Given the description of an element on the screen output the (x, y) to click on. 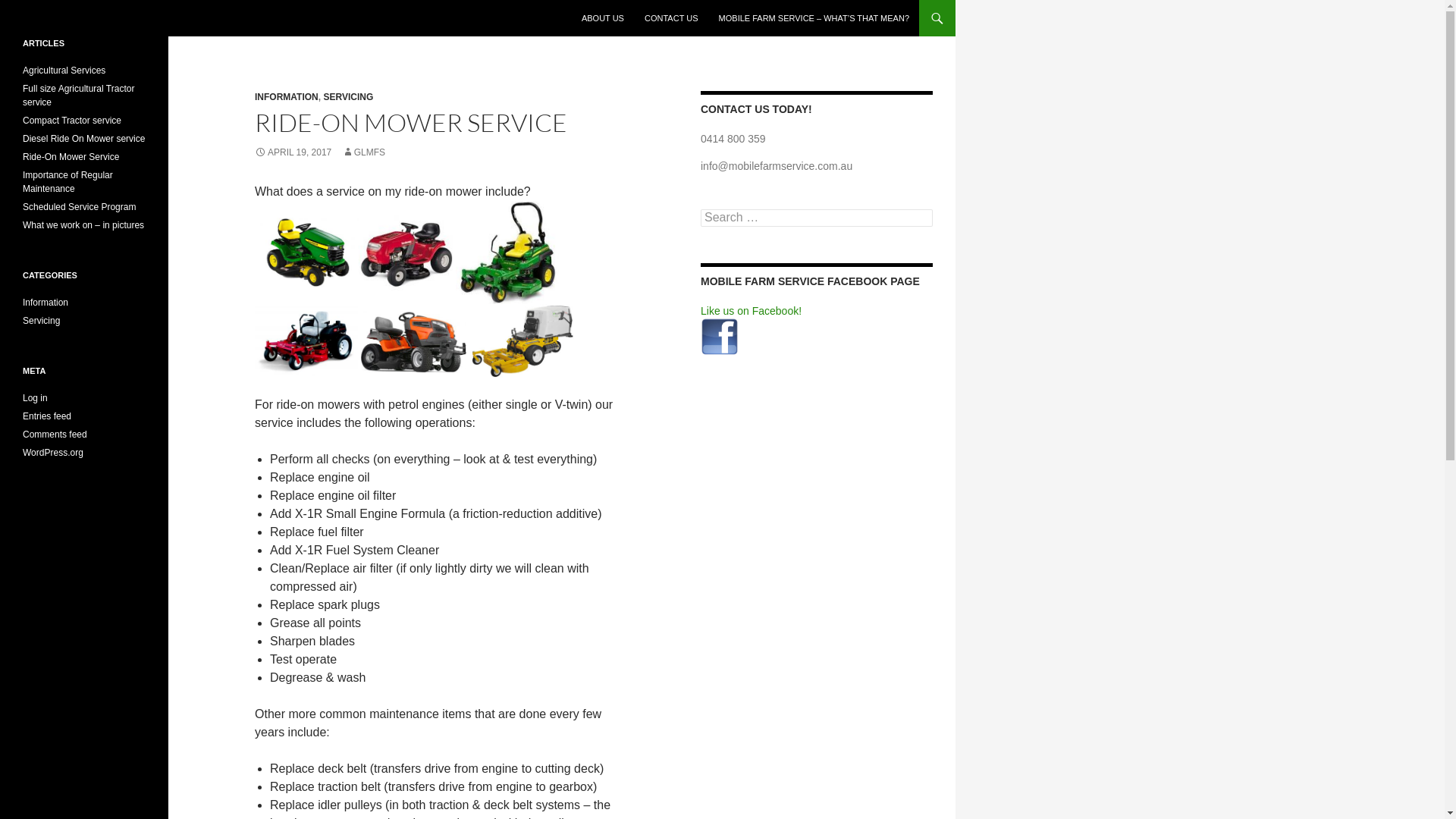
GLMFS Element type: text (363, 152)
Information Element type: text (45, 302)
Diesel Ride On Mower service Element type: text (83, 138)
WordPress.org Element type: text (52, 452)
Compact Tractor service Element type: text (71, 120)
Full size Agricultural Tractor service Element type: text (78, 95)
Servicing Element type: text (40, 320)
Importance of Regular Maintenance Element type: text (67, 181)
Scheduled Service Program Element type: text (78, 206)
Comments feed Element type: text (54, 434)
ABOUT US Element type: text (602, 18)
Agricultural Services Element type: text (63, 70)
APRIL 19, 2017 Element type: text (292, 152)
INFORMATION Element type: text (286, 96)
Ride-On Mower Service Element type: text (70, 156)
Like us on Facebook! Element type: text (750, 310)
Log in Element type: text (34, 397)
Search Element type: text (29, 9)
Mobile Farm Service Element type: text (84, 18)
SERVICING Element type: text (348, 96)
Entries feed Element type: text (46, 416)
CONTACT US Element type: text (671, 18)
